Given the description of an element on the screen output the (x, y) to click on. 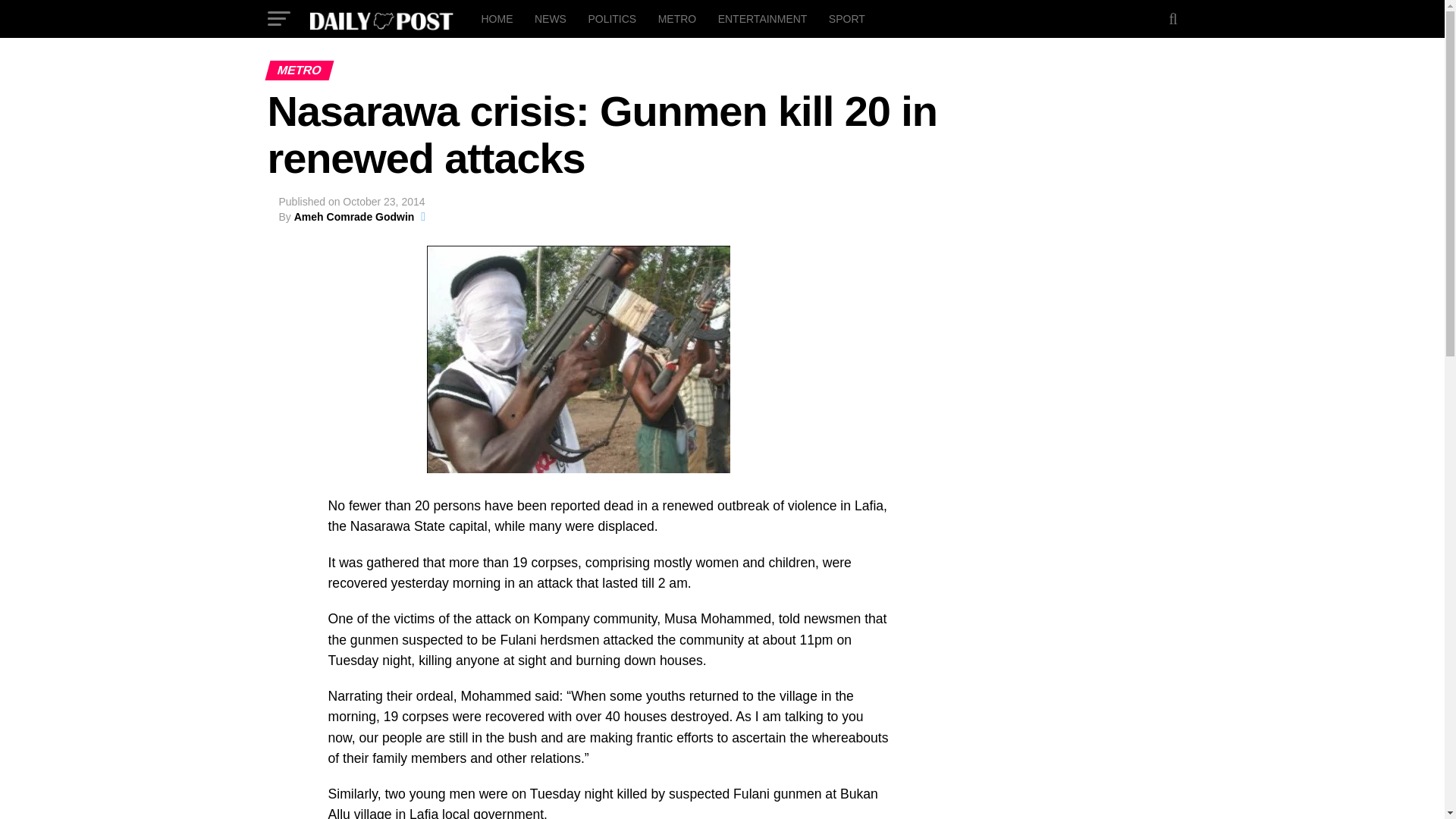
POLITICS (611, 18)
SPORT (847, 18)
ENTERTAINMENT (762, 18)
METRO (677, 18)
NEWS (550, 18)
Posts by Ameh Comrade Godwin (354, 216)
HOME (496, 18)
Ameh Comrade Godwin (354, 216)
